Given the description of an element on the screen output the (x, y) to click on. 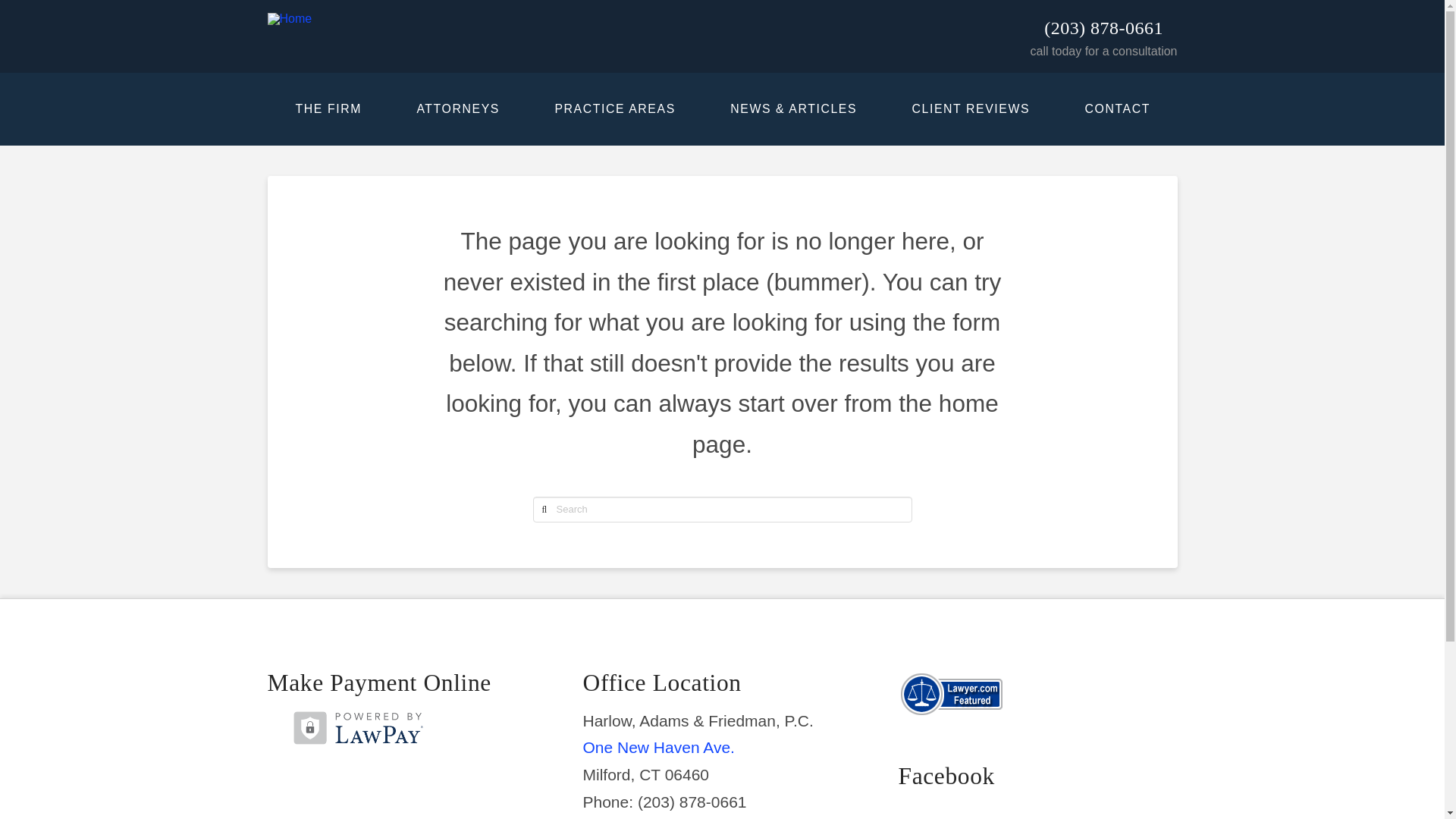
One New Haven Ave. (657, 746)
PRACTICE AREAS (614, 108)
THE FIRM (327, 108)
CLIENT REVIEWS (970, 108)
CONTACT (1116, 108)
ATTORNEYS (456, 108)
